Given the description of an element on the screen output the (x, y) to click on. 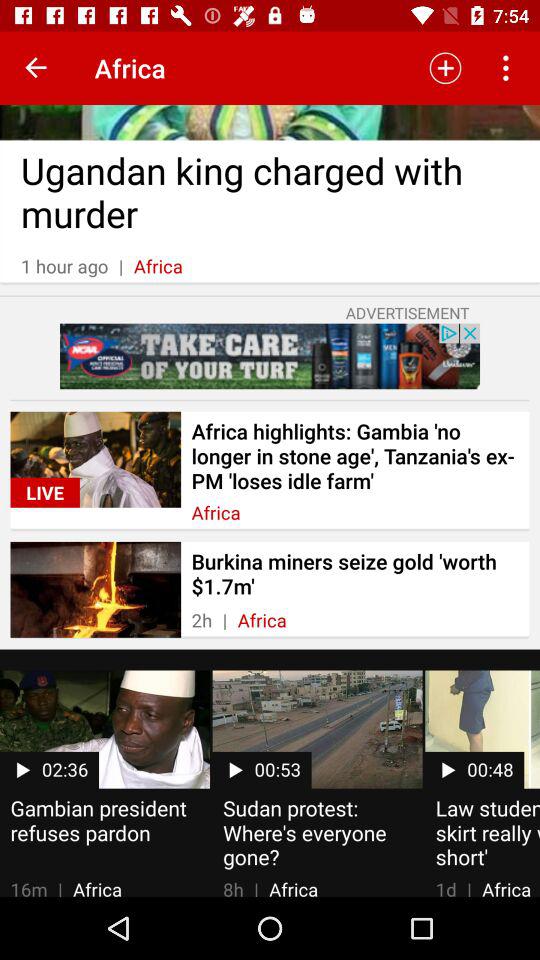
turn off icon to the left of africa (36, 68)
